Given the description of an element on the screen output the (x, y) to click on. 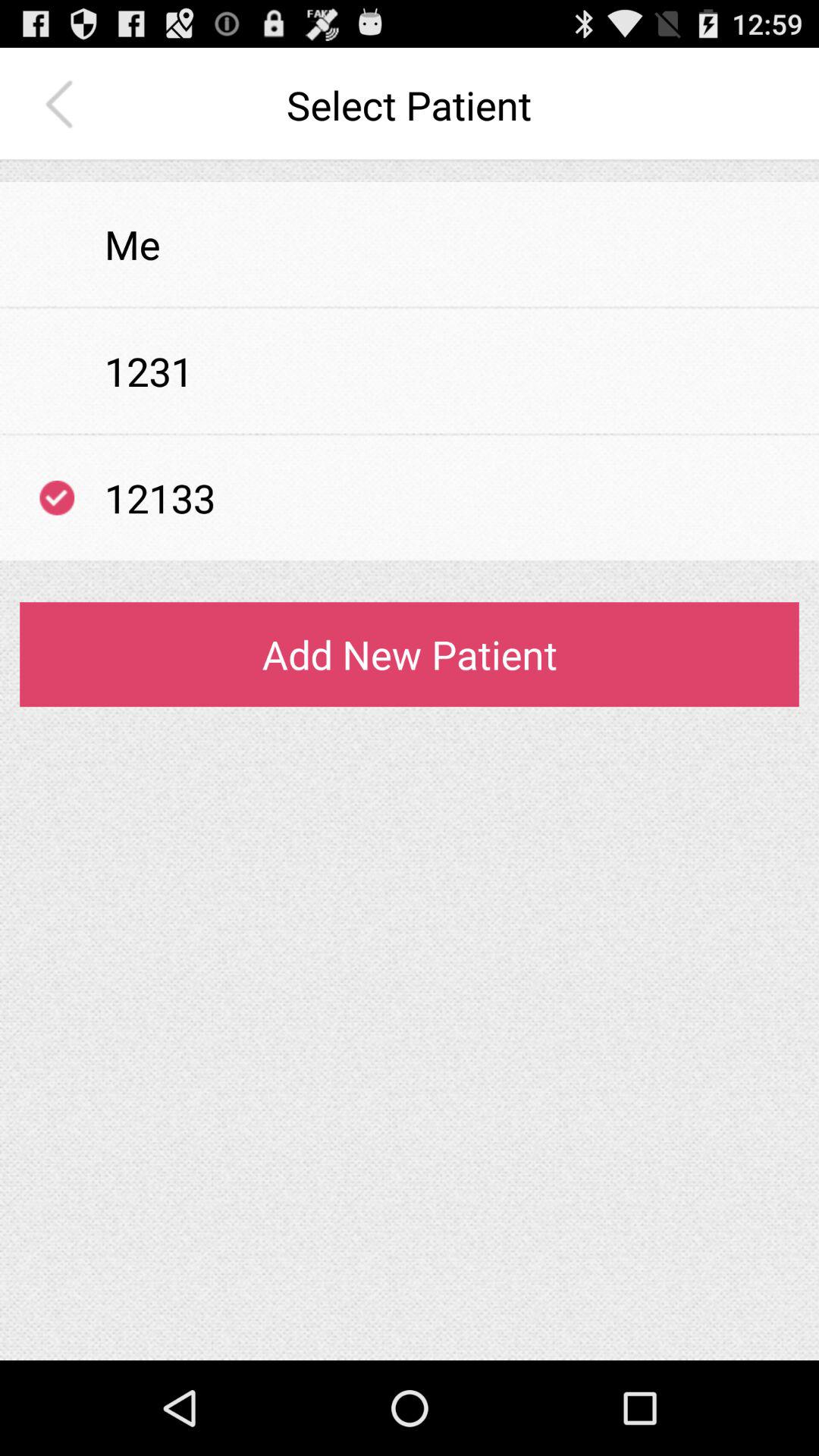
flip until 1231 icon (148, 370)
